Given the description of an element on the screen output the (x, y) to click on. 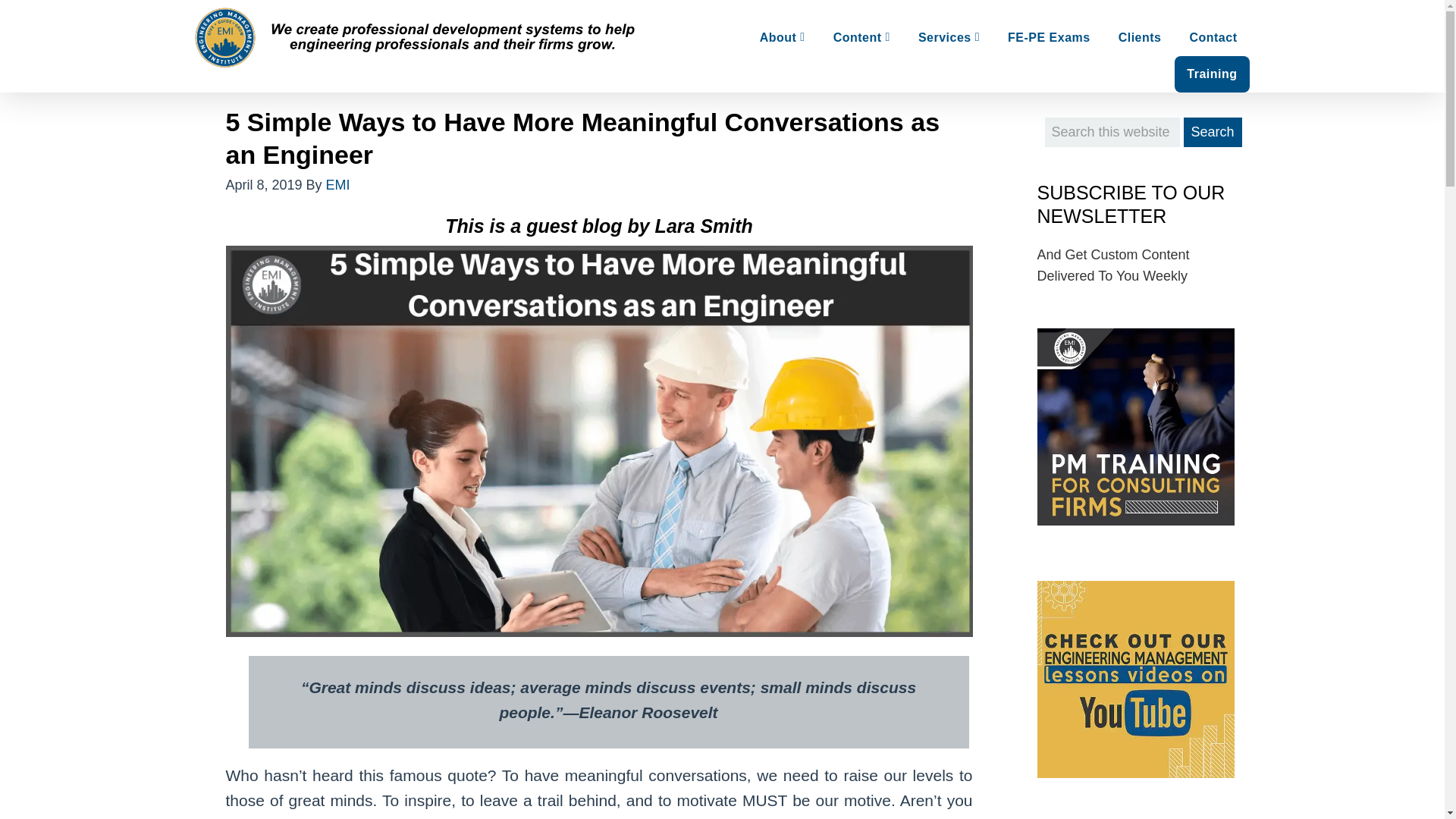
Engineering Management Institute (415, 38)
Clients (1139, 37)
FE-PE Exams (1048, 37)
Contact (1212, 37)
Content (861, 37)
Training (1211, 74)
About (782, 37)
Services (948, 37)
Search (1211, 132)
Search (1211, 132)
